Given the description of an element on the screen output the (x, y) to click on. 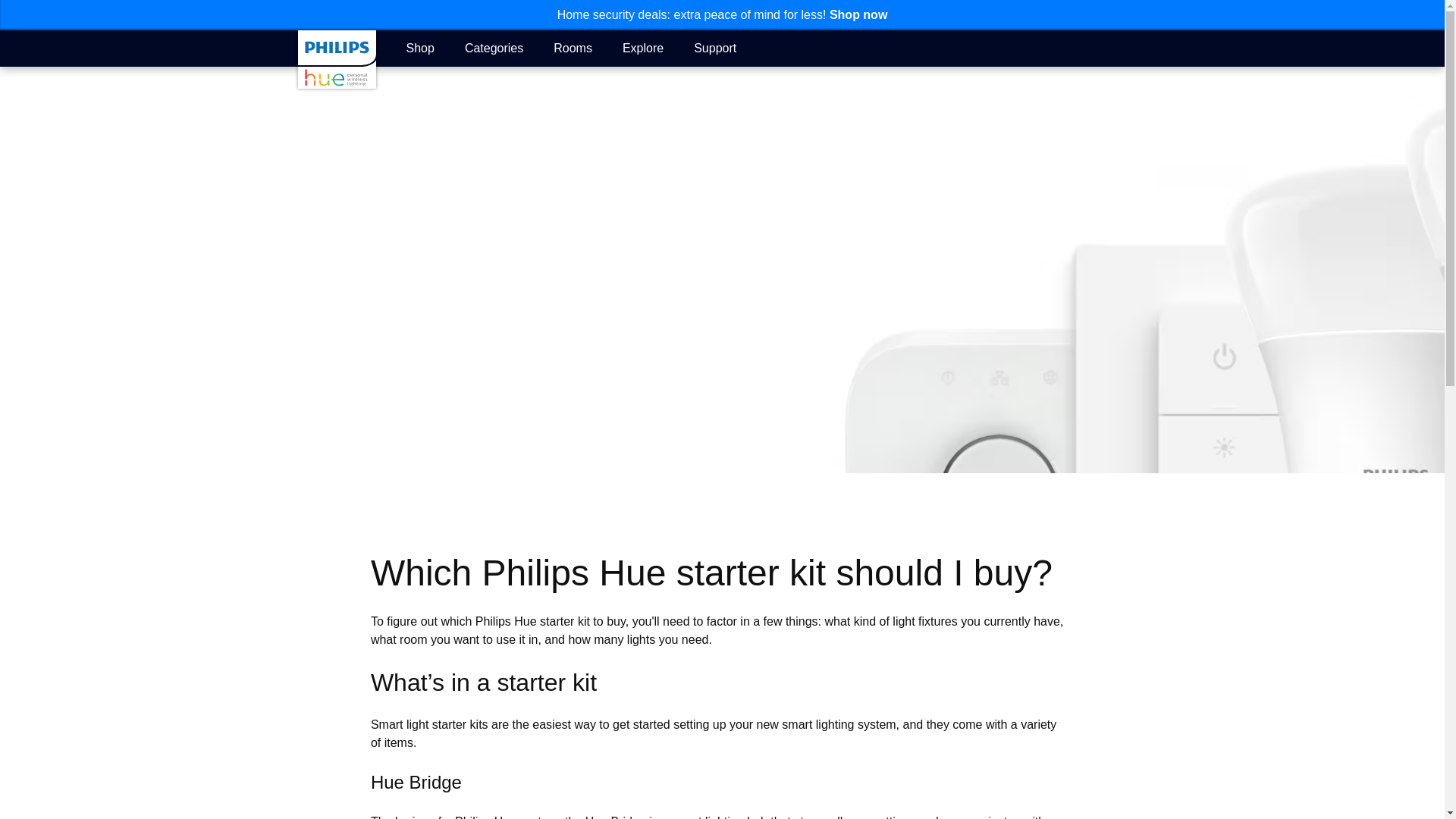
Philips Hue (336, 59)
Shopping Cart (1137, 47)
Rooms (572, 47)
Categories (493, 47)
Shop now (857, 14)
